Given the description of an element on the screen output the (x, y) to click on. 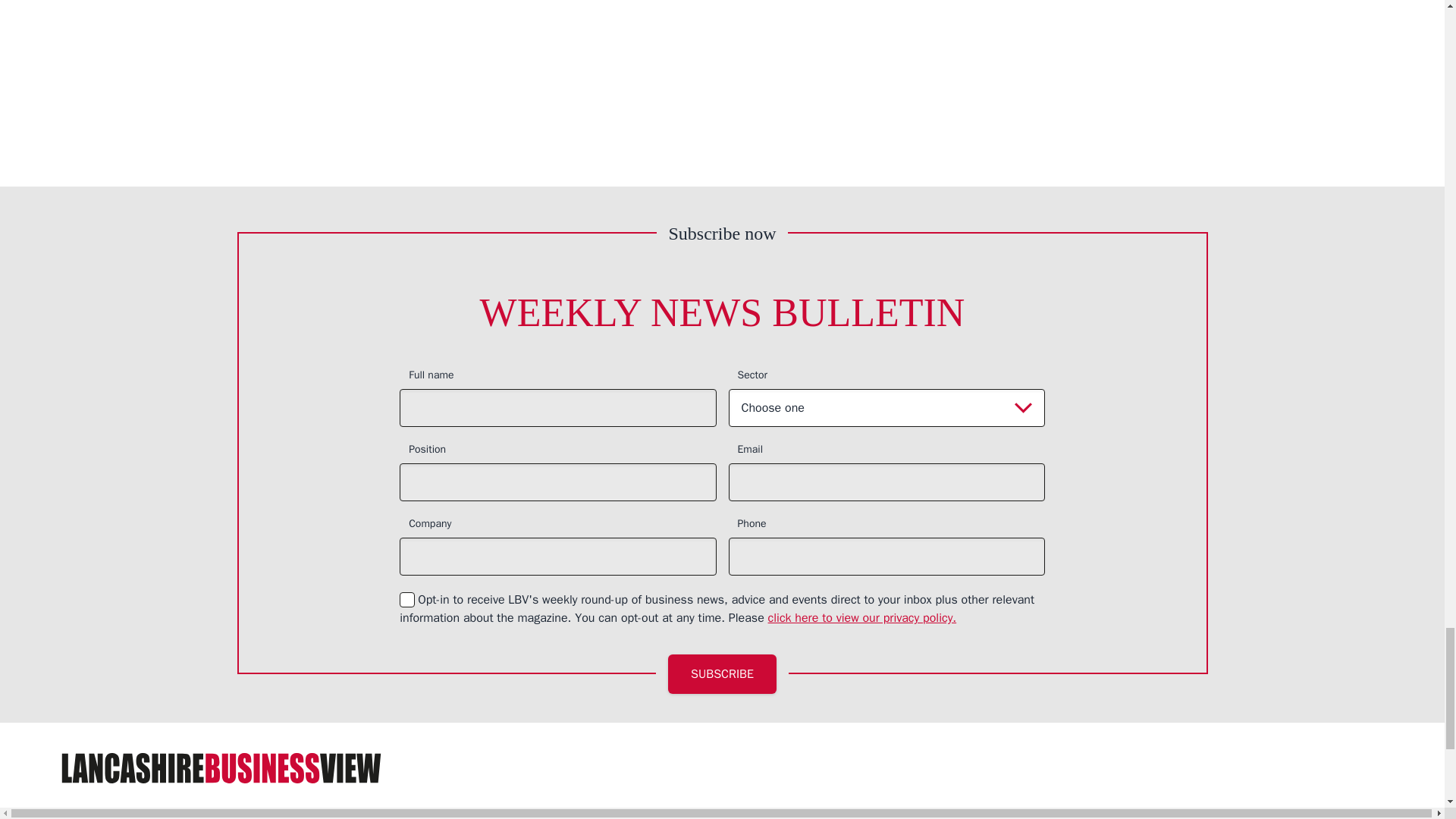
Privacy Policy (862, 617)
